Given the description of an element on the screen output the (x, y) to click on. 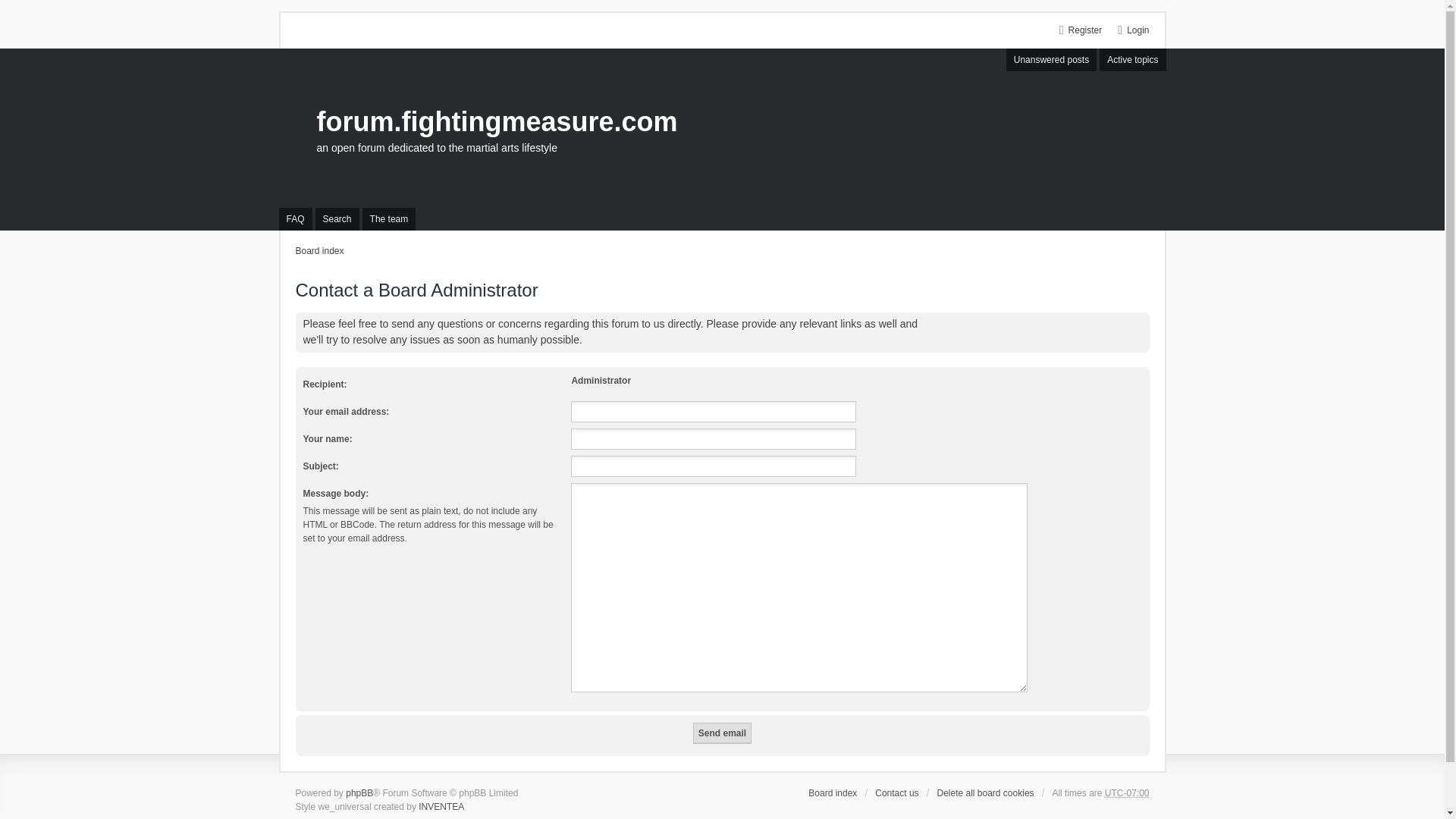
Unanswered posts (1051, 59)
Send email (722, 732)
Board index (832, 793)
Send email (722, 732)
Board index (497, 121)
Frequently Asked Questions (296, 219)
FAQ (296, 219)
The team (389, 219)
Delete all board cookies (984, 792)
Login (1137, 30)
